Given the description of an element on the screen output the (x, y) to click on. 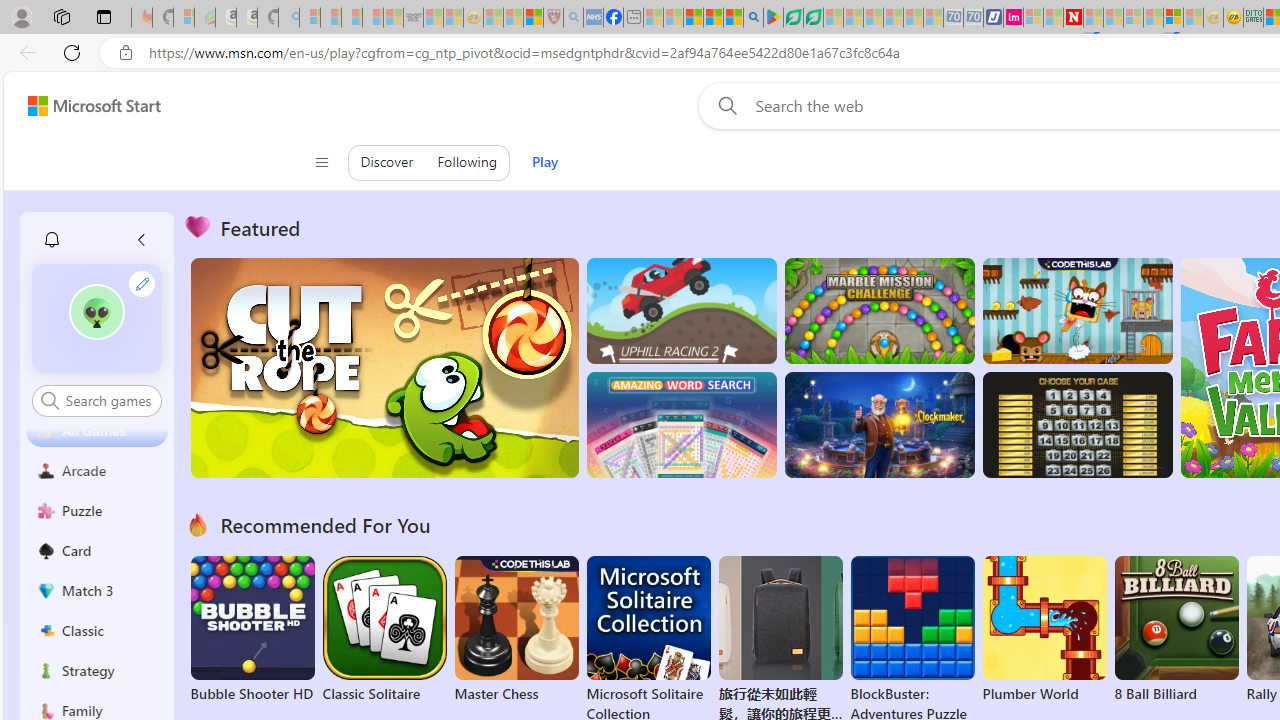
Class: notification-item (51, 239)
Class: control icon-only (320, 162)
Classic Solitaire (384, 629)
Clockmaker (879, 425)
Pets - MSN (713, 17)
Plumber World (1044, 629)
